Given the description of an element on the screen output the (x, y) to click on. 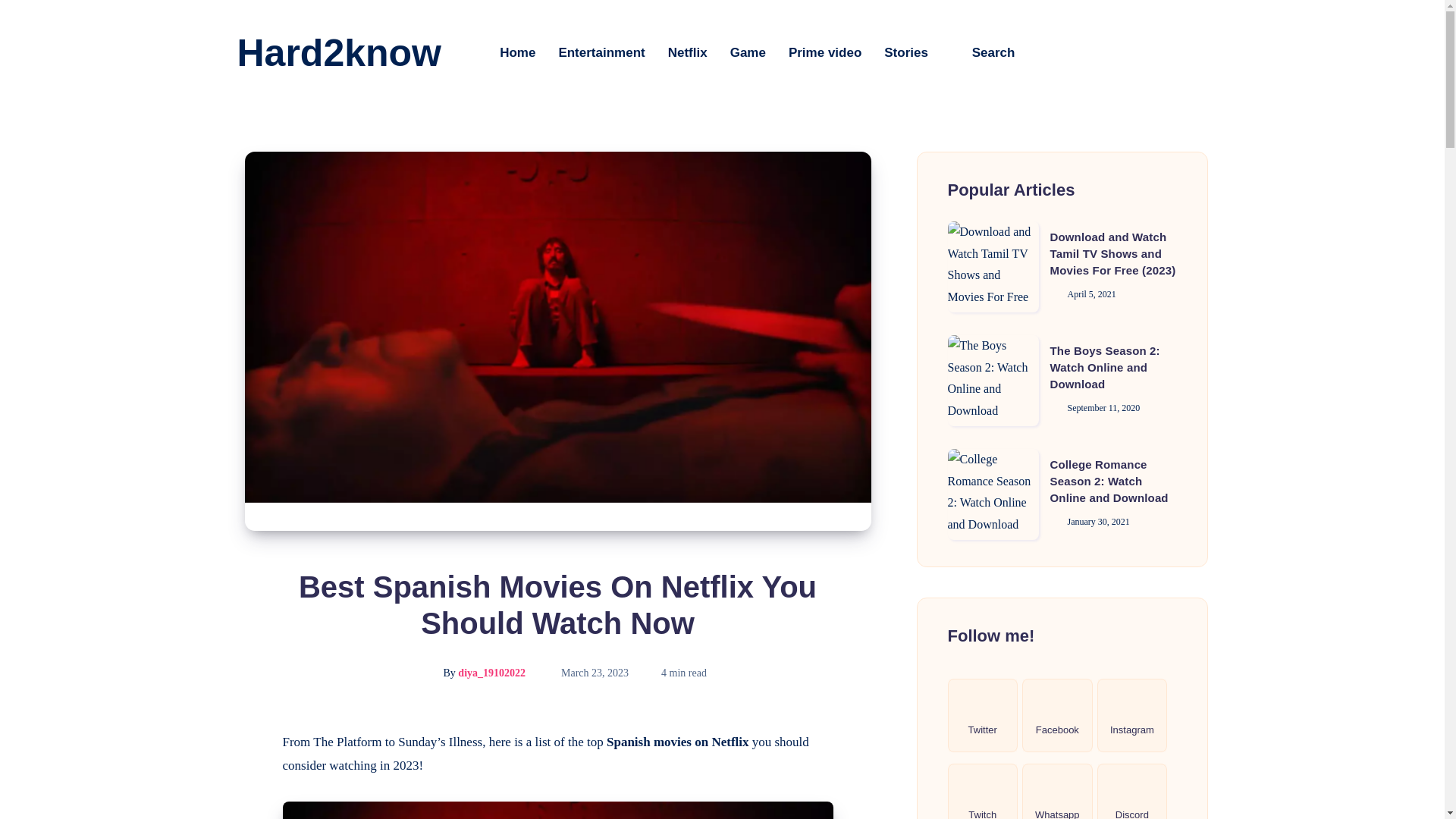
Hard2know (338, 53)
Share on Pinterest (244, 807)
Share on Facebook (244, 742)
Prime video (825, 52)
Search (982, 52)
Entertainment (601, 52)
Home (517, 52)
Netflix (687, 52)
Game (747, 52)
Share on Twitter (244, 776)
